Given the description of an element on the screen output the (x, y) to click on. 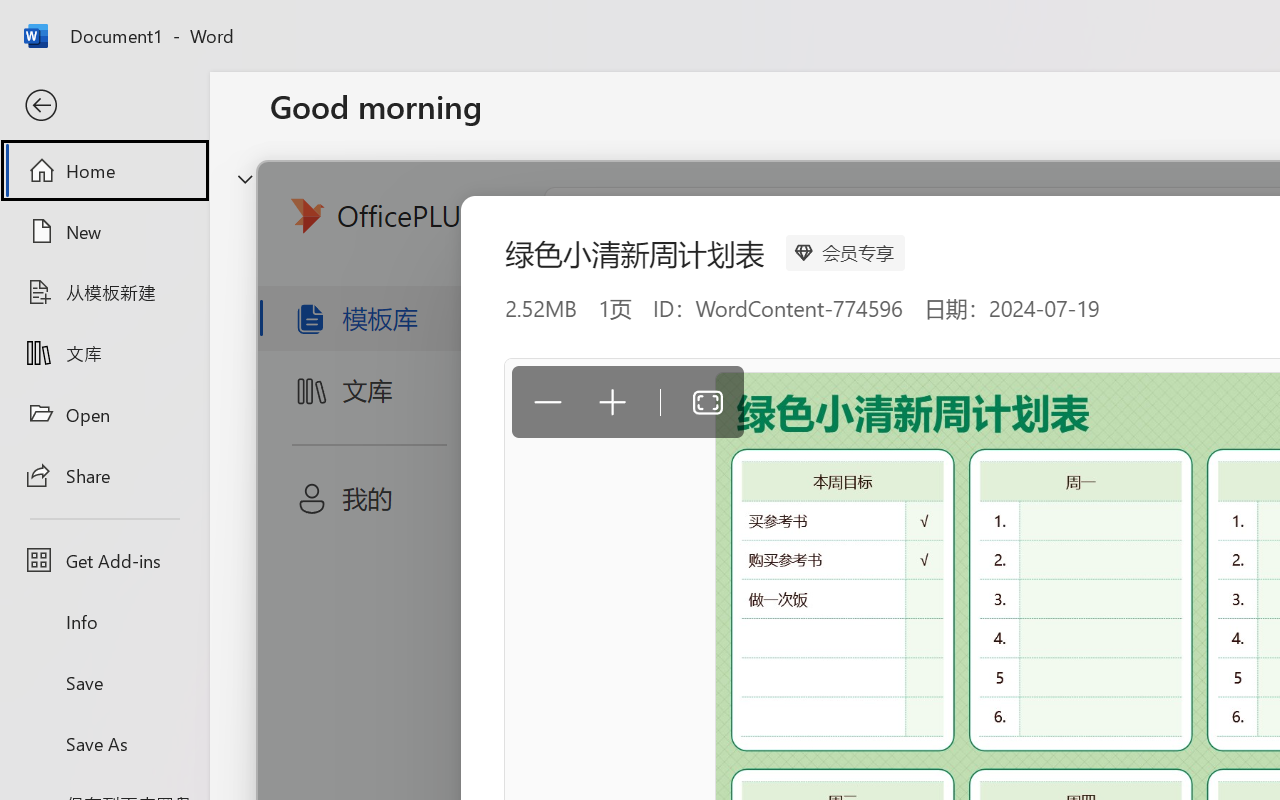
New (104, 231)
Hide or show region (245, 178)
Shared with Me (563, 636)
Save As (104, 743)
Recent (316, 636)
Get Add-ins (104, 560)
Back (104, 106)
Pinned (417, 636)
